Given the description of an element on the screen output the (x, y) to click on. 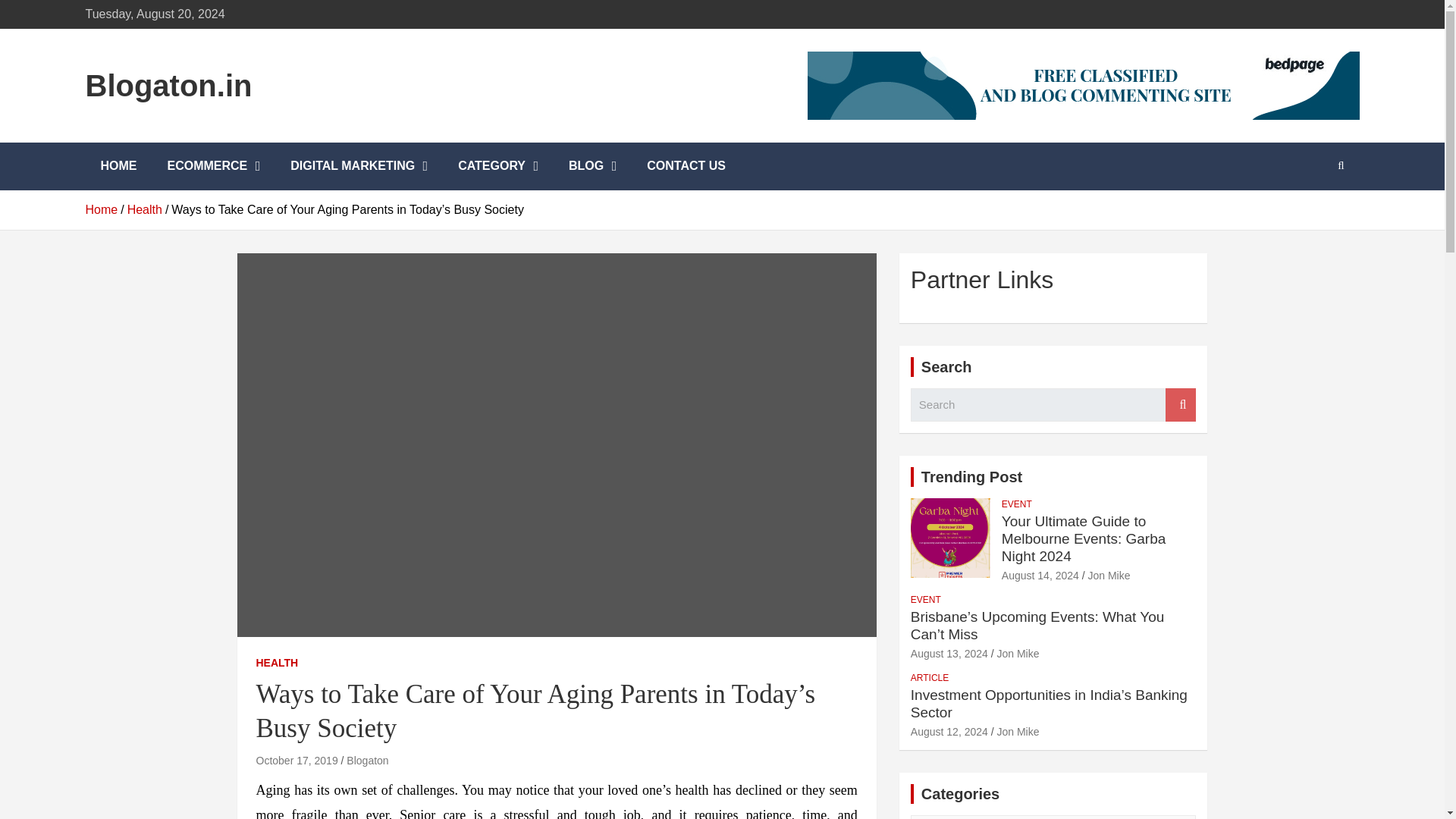
Your Ultimate Guide to Melbourne Events: Garba Night 2024 (1039, 575)
CATEGORY (497, 165)
BLOG (592, 165)
HOME (117, 165)
CONTACT US (686, 165)
Home (100, 209)
ECOMMERCE (213, 165)
DIGITAL MARKETING (358, 165)
Health (144, 209)
HEALTH (277, 663)
